Given the description of an element on the screen output the (x, y) to click on. 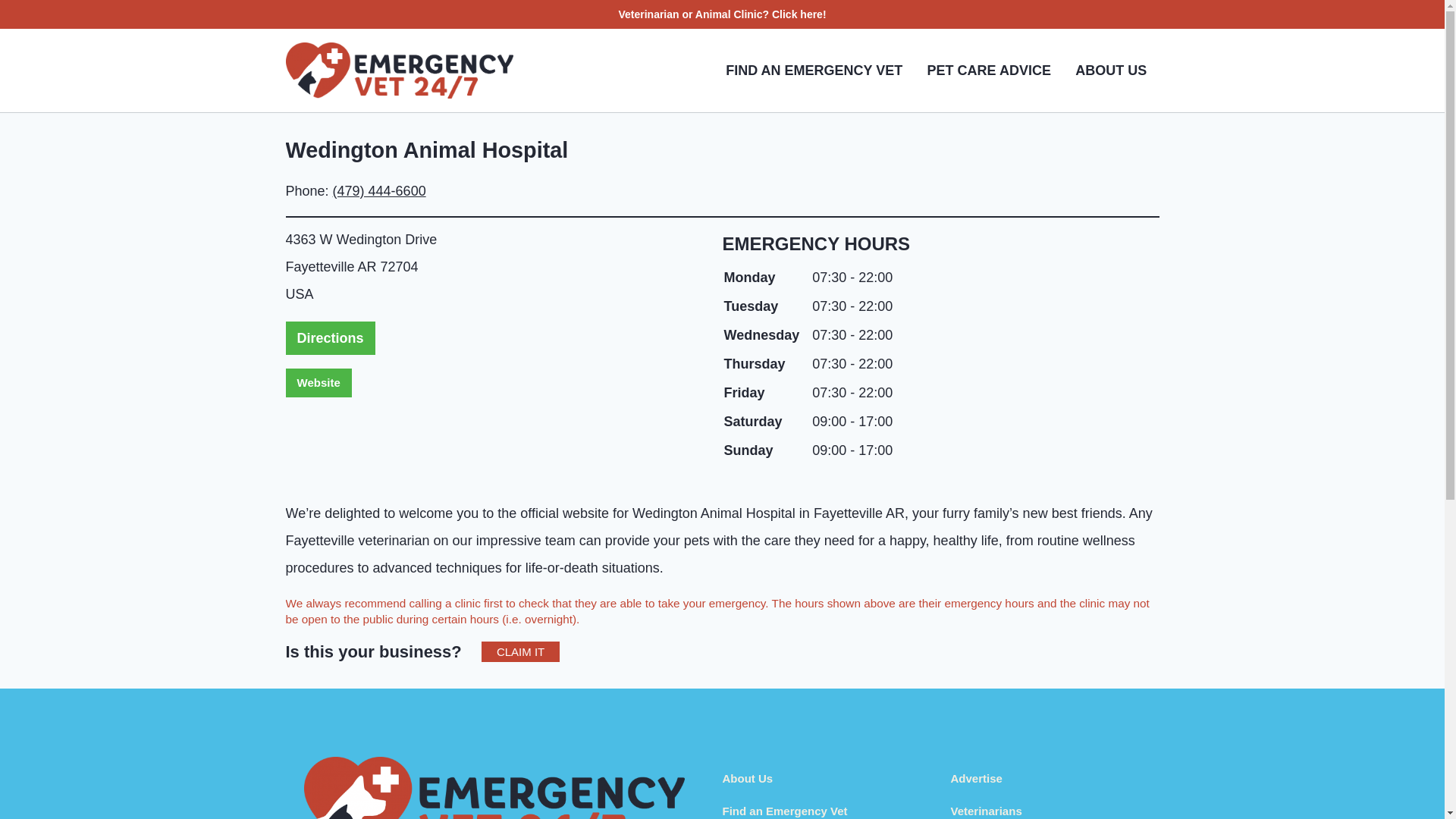
Advertise (976, 778)
PET CARE ADVICE (988, 70)
About Us (747, 778)
Find an Emergency Vet (784, 810)
Veterinarian or Animal Clinic? Click here! (721, 14)
FIND AN EMERGENCY VET (813, 70)
CLAIM IT (520, 651)
Directions (329, 337)
ABOUT US (1110, 70)
Veterinarians (986, 810)
